Given the description of an element on the screen output the (x, y) to click on. 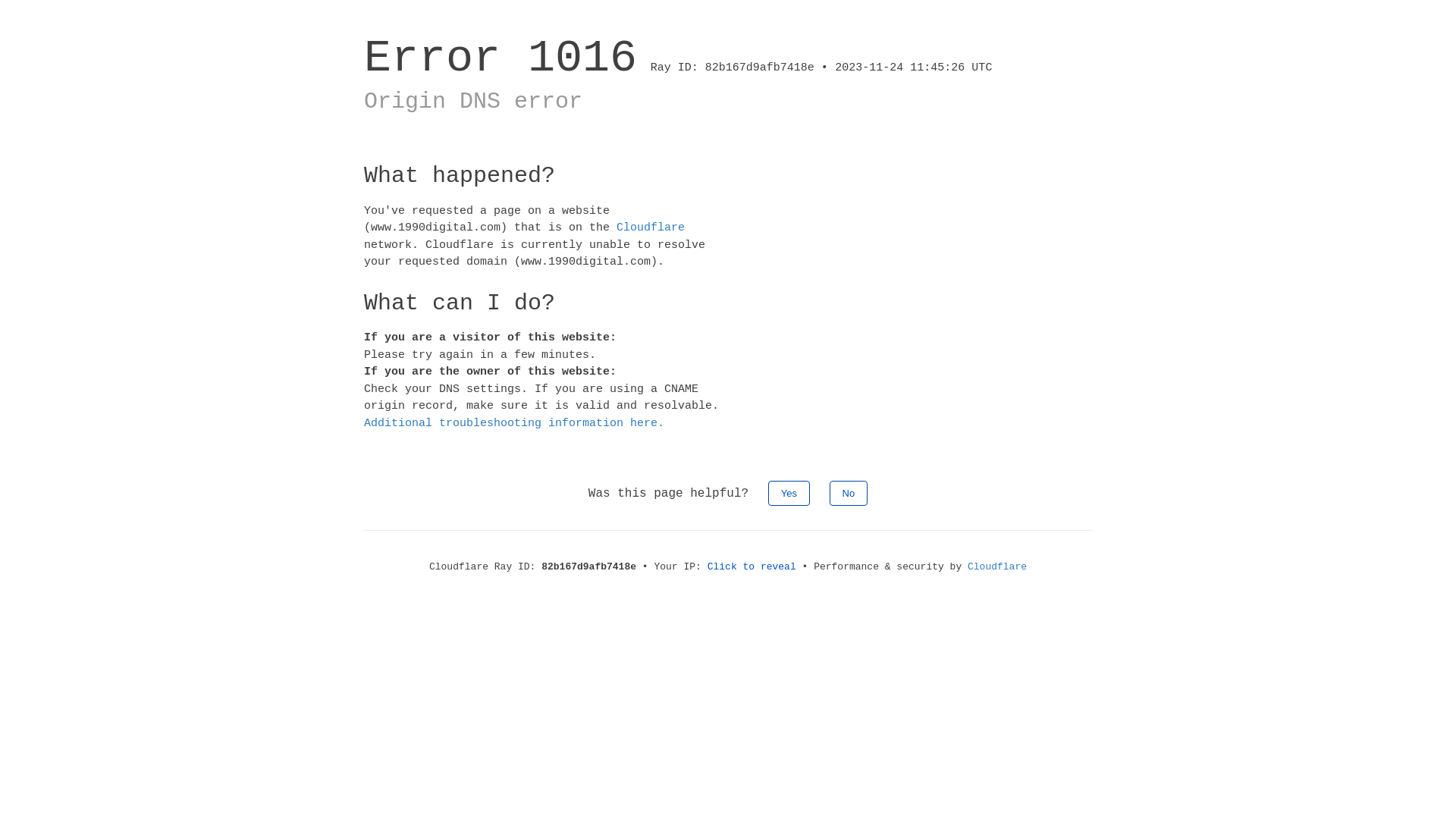
Yes Element type: text (788, 492)
Cloudflare Element type: text (996, 566)
Cloudflare Element type: text (650, 227)
Additional troubleshooting information here. Element type: text (514, 423)
No Element type: text (848, 492)
Click to reveal Element type: text (751, 566)
